Given the description of an element on the screen output the (x, y) to click on. 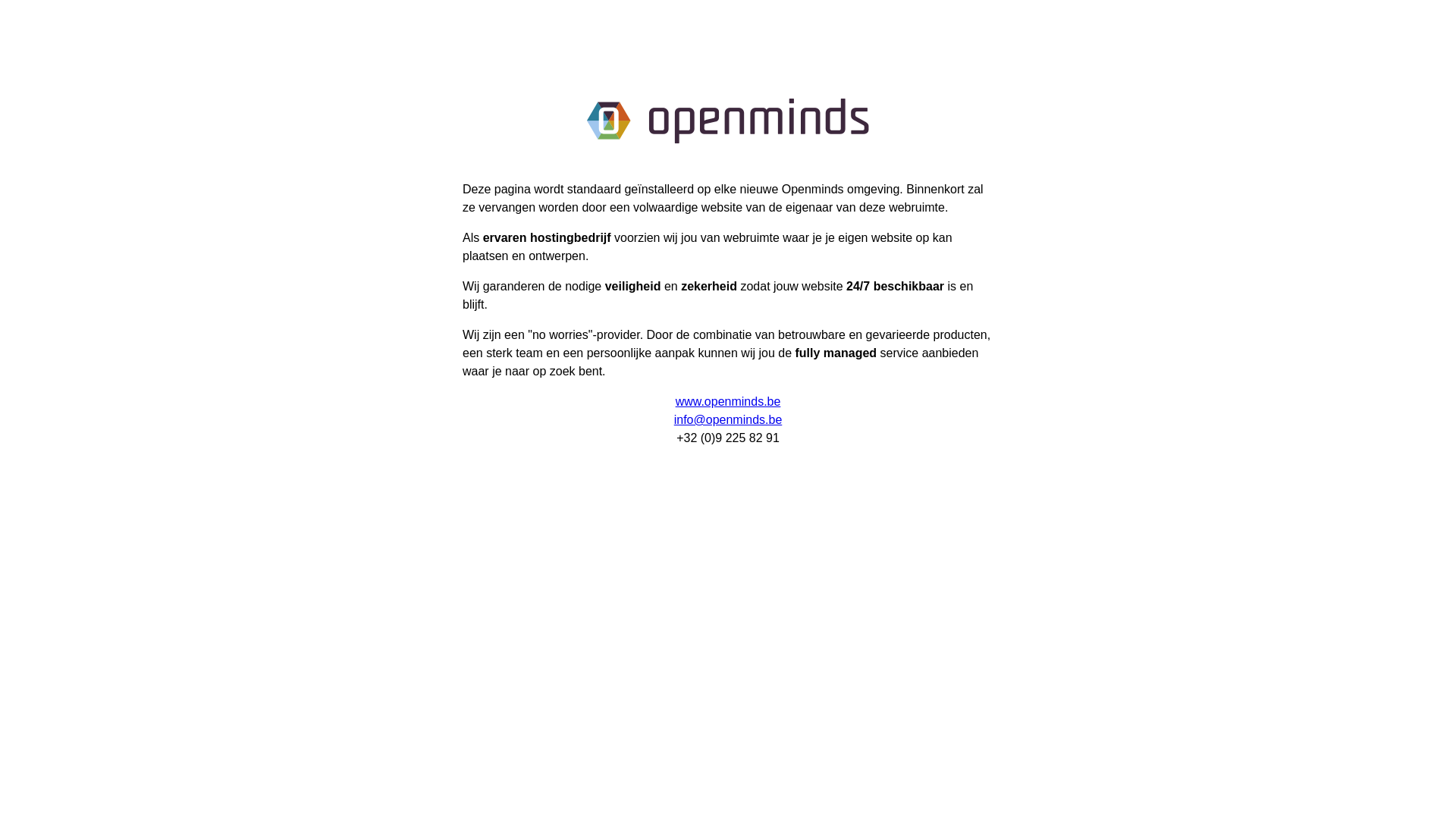
info@openminds.be Element type: text (728, 419)
www.openminds.be Element type: text (728, 401)
